Given the description of an element on the screen output the (x, y) to click on. 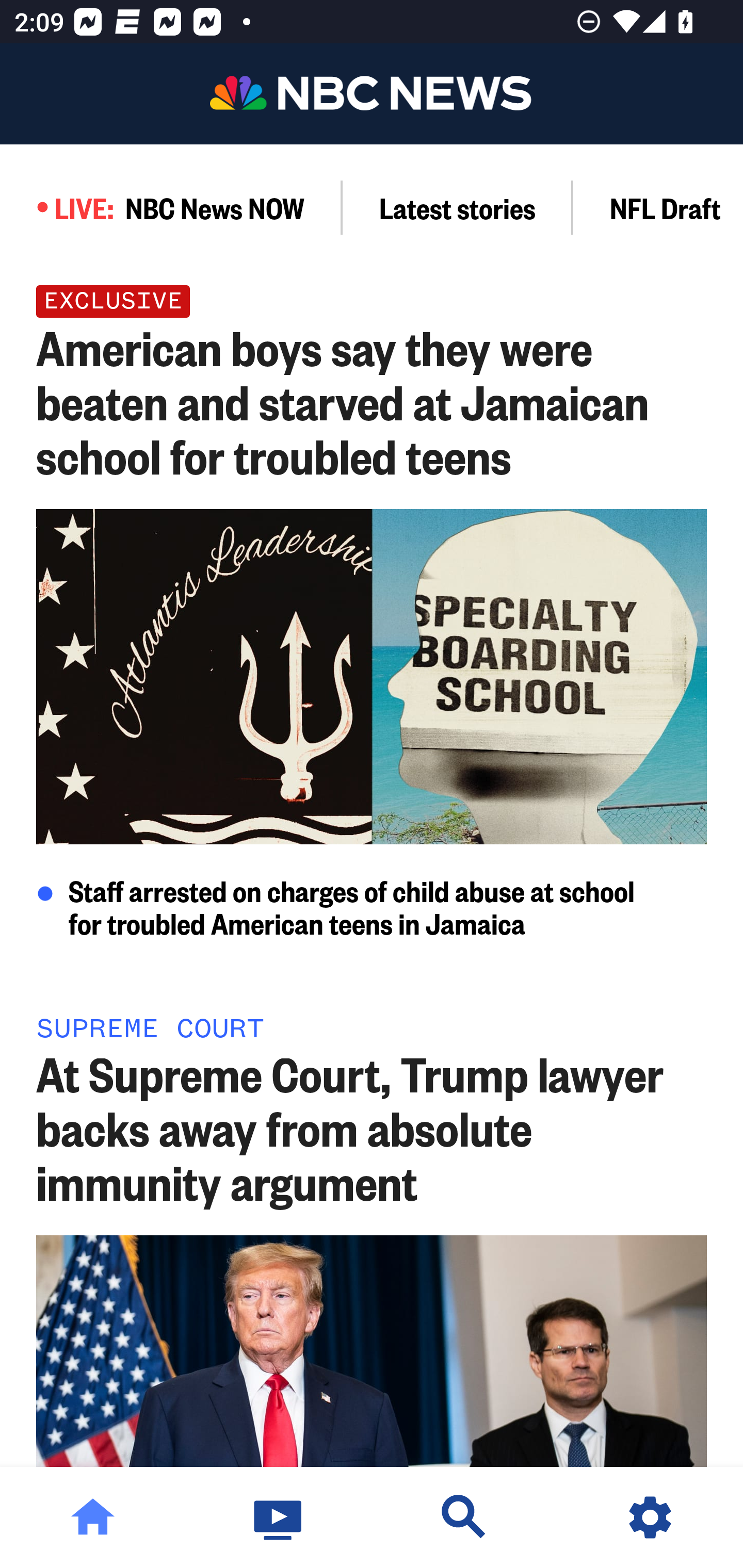
LIVE:  NBC News NOW (171, 207)
Latest stories Section,Latest stories (457, 207)
NFL Draft (658, 207)
Watch (278, 1517)
Discover (464, 1517)
Settings (650, 1517)
